Given the description of an element on the screen output the (x, y) to click on. 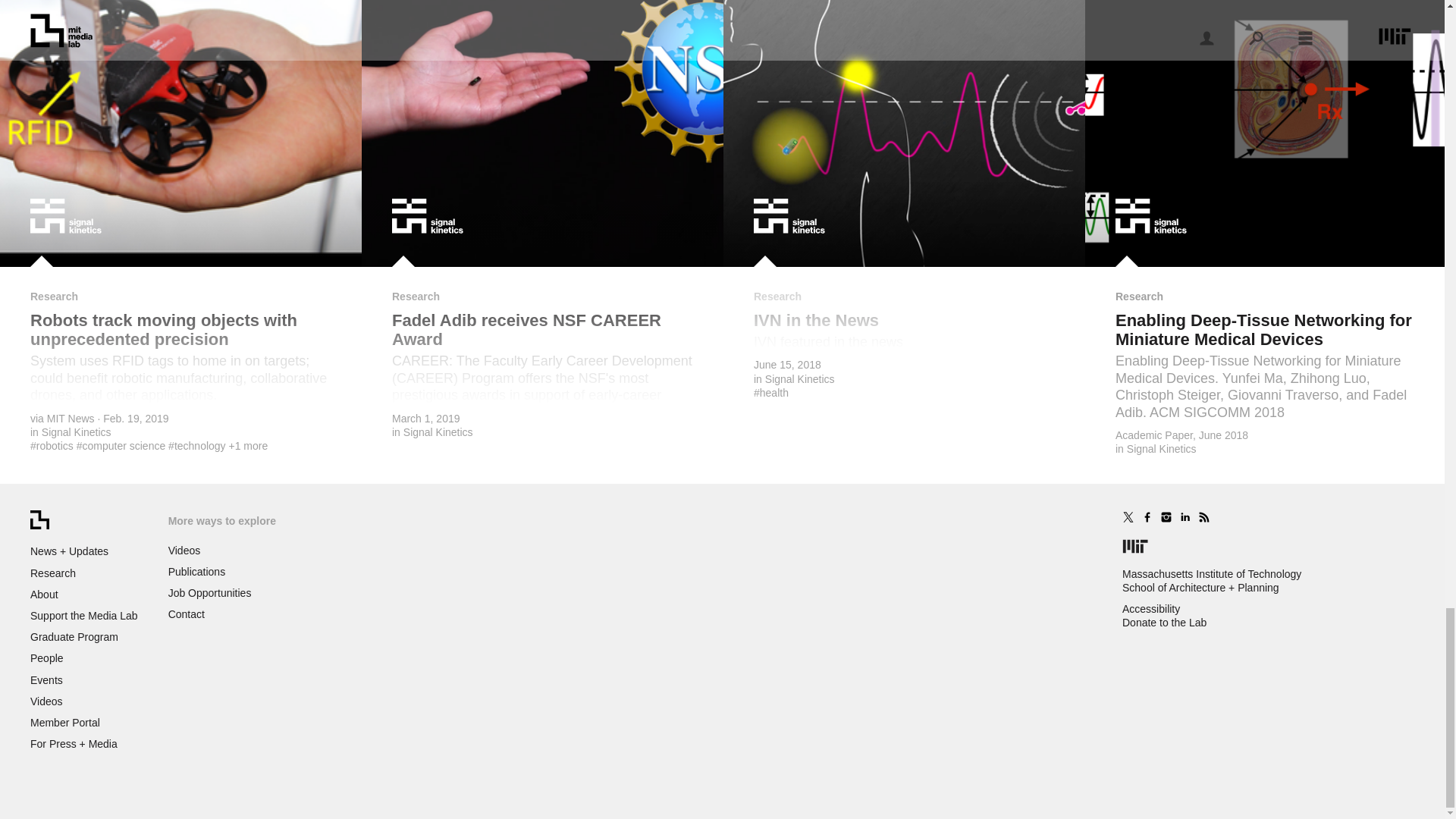
MIT News (70, 418)
Signal Kinetics (77, 431)
